Given the description of an element on the screen output the (x, y) to click on. 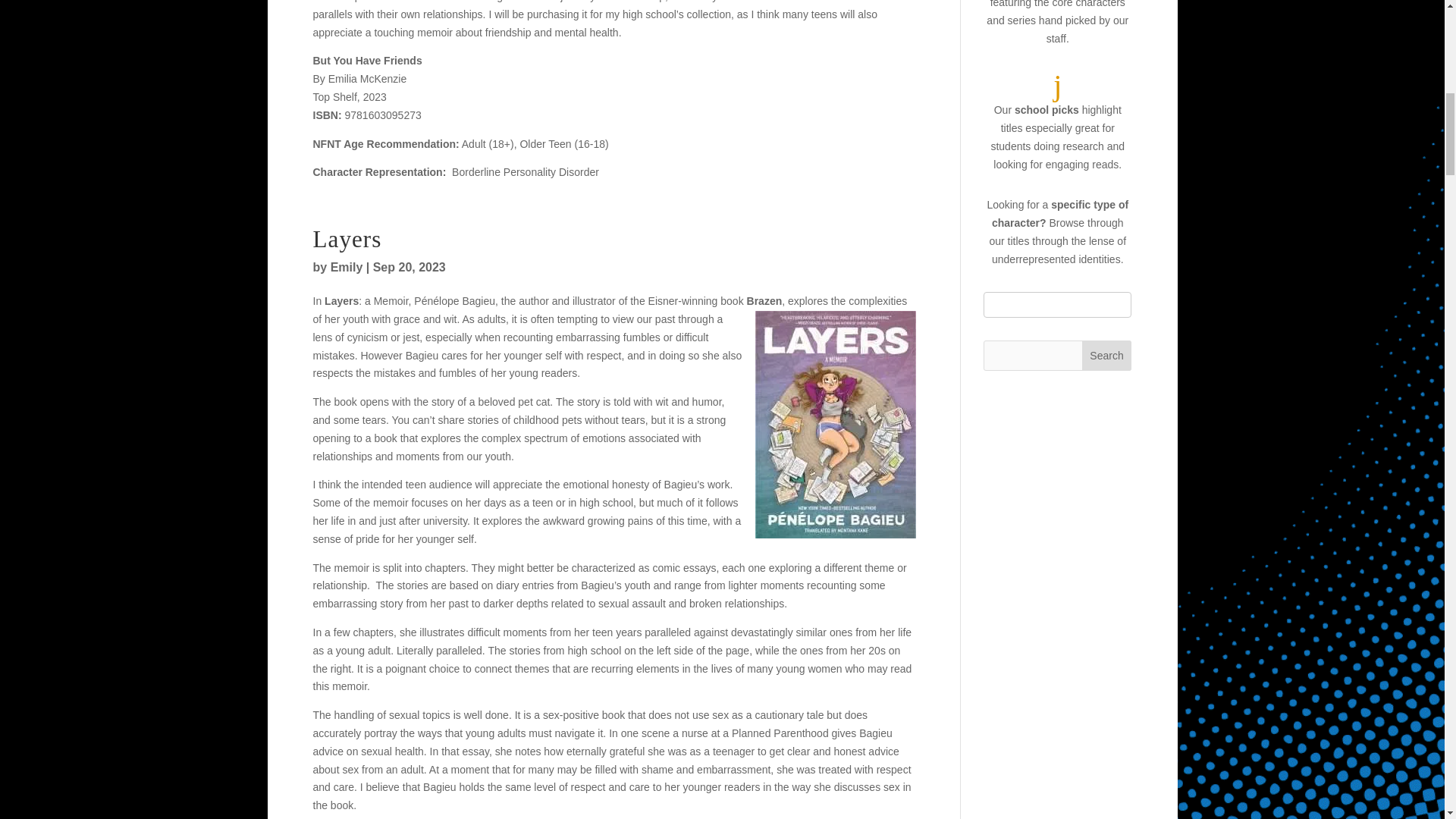
Posts by Emily (346, 267)
